Given the description of an element on the screen output the (x, y) to click on. 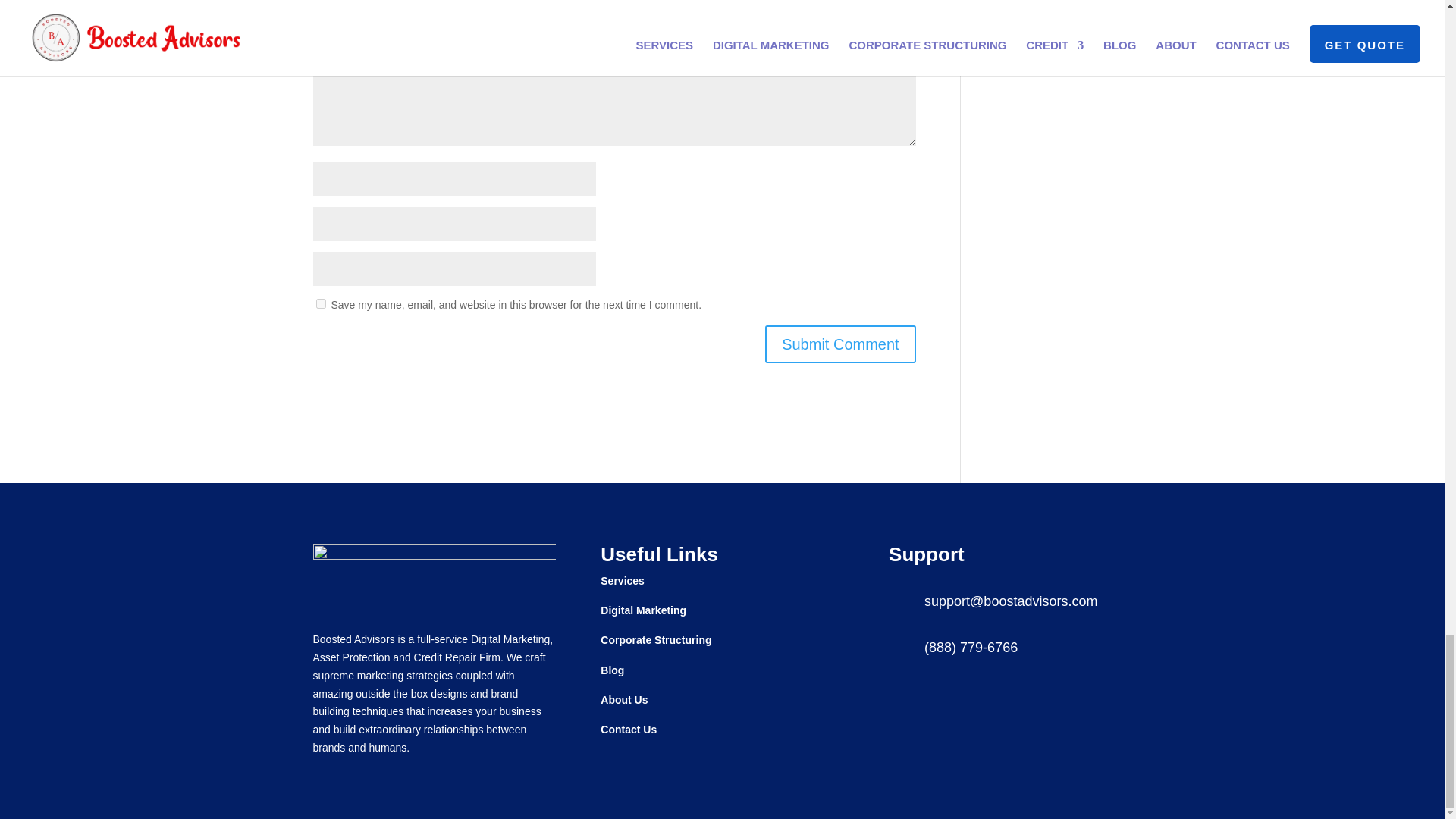
badddddd (433, 576)
Submit Comment (840, 344)
Submit Comment (840, 344)
yes (319, 303)
